Given the description of an element on the screen output the (x, y) to click on. 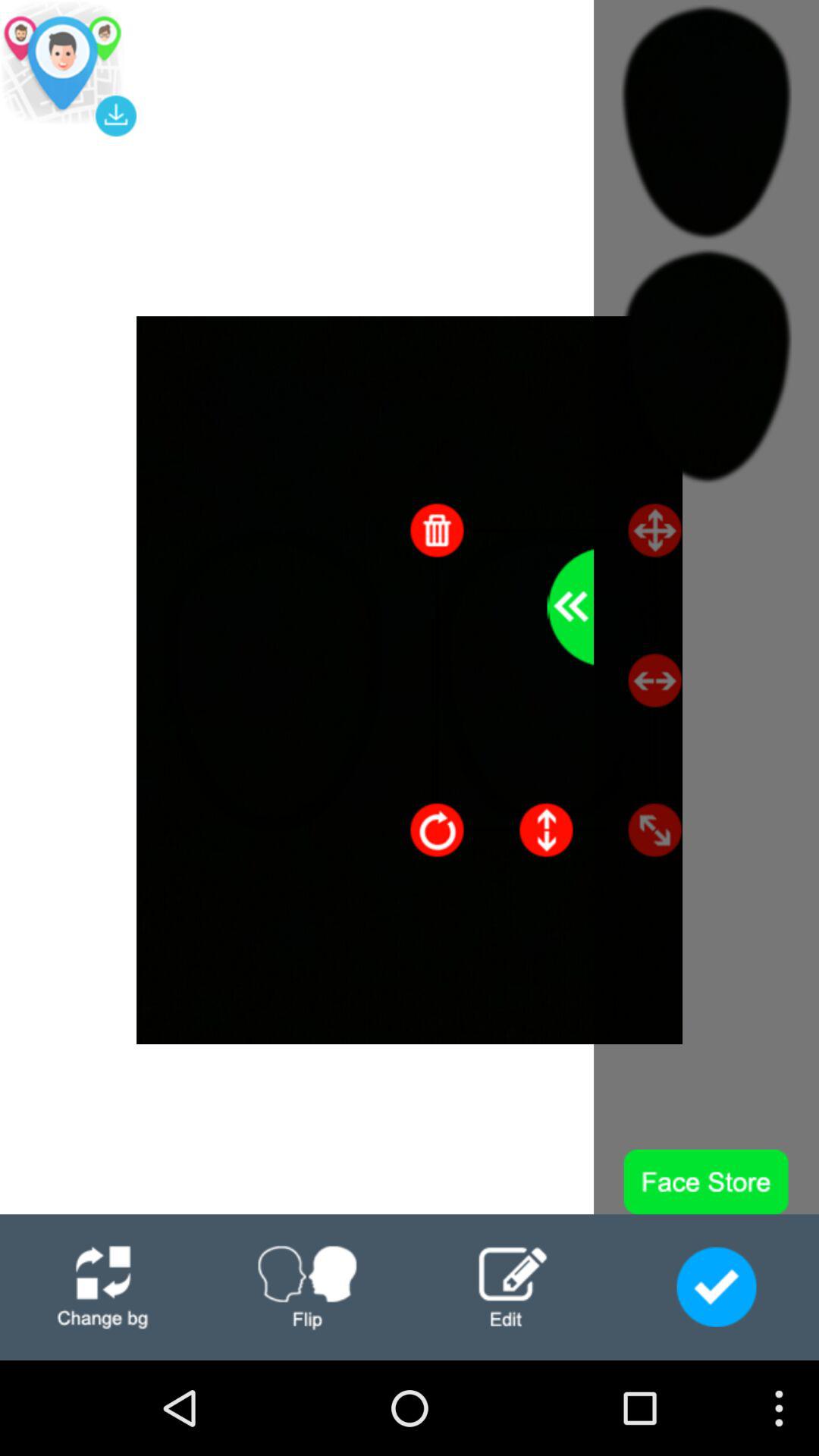
move backward (570, 606)
